Given the description of an element on the screen output the (x, y) to click on. 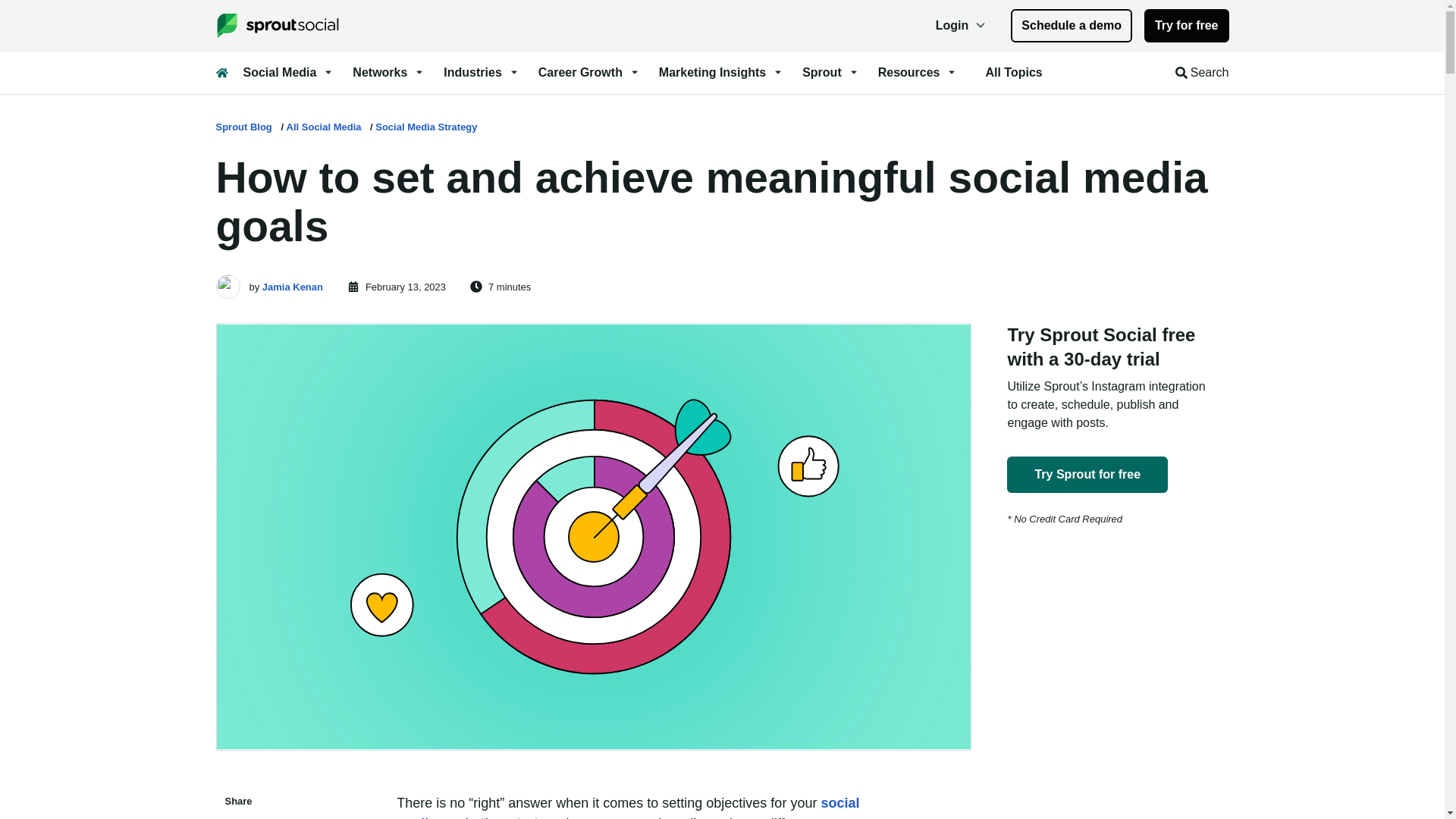
Open Marketing Insights menu (721, 72)
Social Media (288, 72)
Open Career Growth menu (589, 72)
Try for free (1186, 25)
Open Social Media menu (288, 72)
Sprout Social (282, 25)
Schedule a demo (1071, 25)
Open Networks menu (388, 72)
Login (961, 25)
Open Industries menu (481, 72)
